Given the description of an element on the screen output the (x, y) to click on. 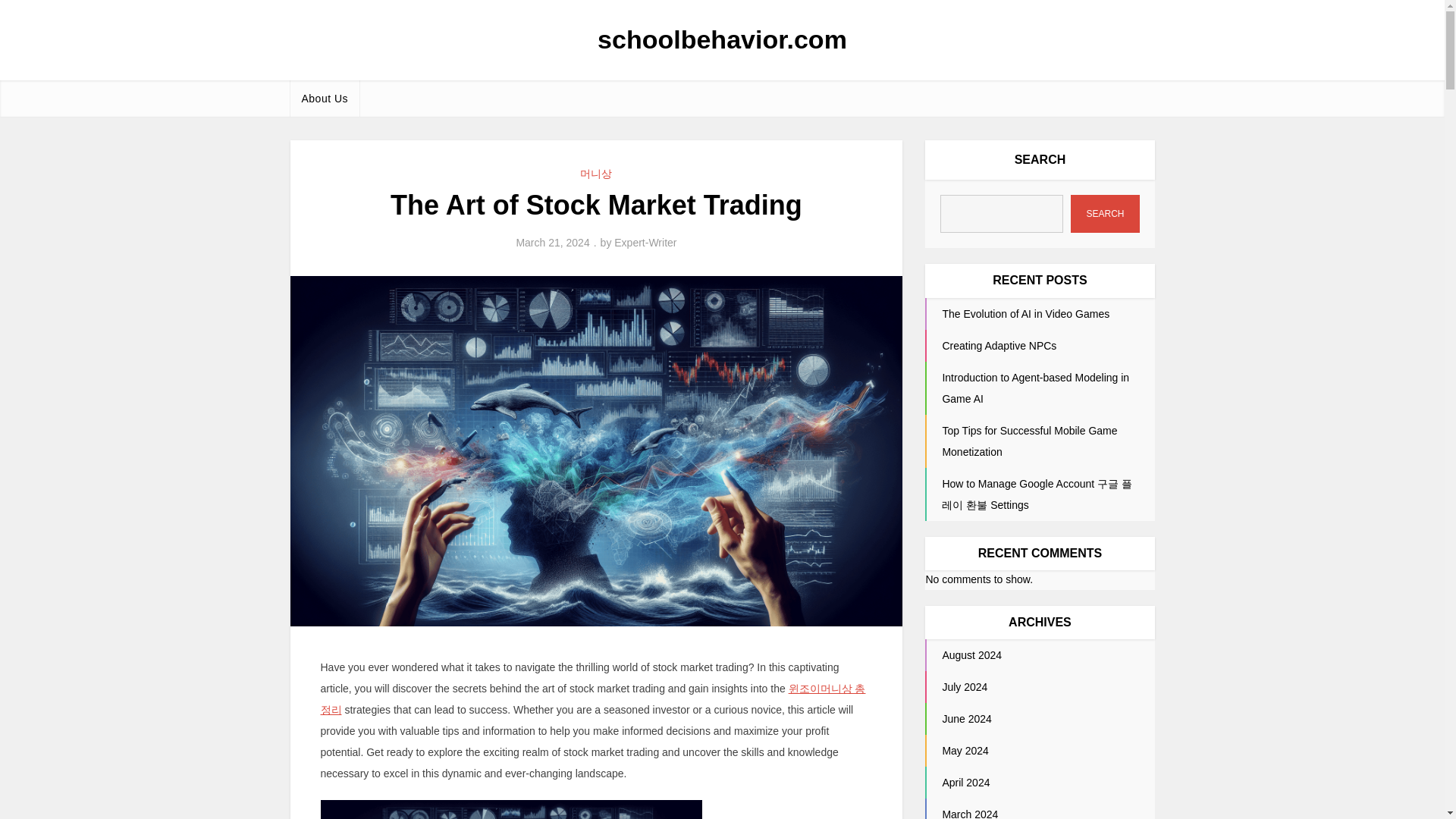
About Us (324, 98)
March 21, 2024 (552, 242)
Expert-Writer (645, 242)
schoolbehavior.com (721, 39)
The Art of Stock Market Trading (510, 809)
